Given the description of an element on the screen output the (x, y) to click on. 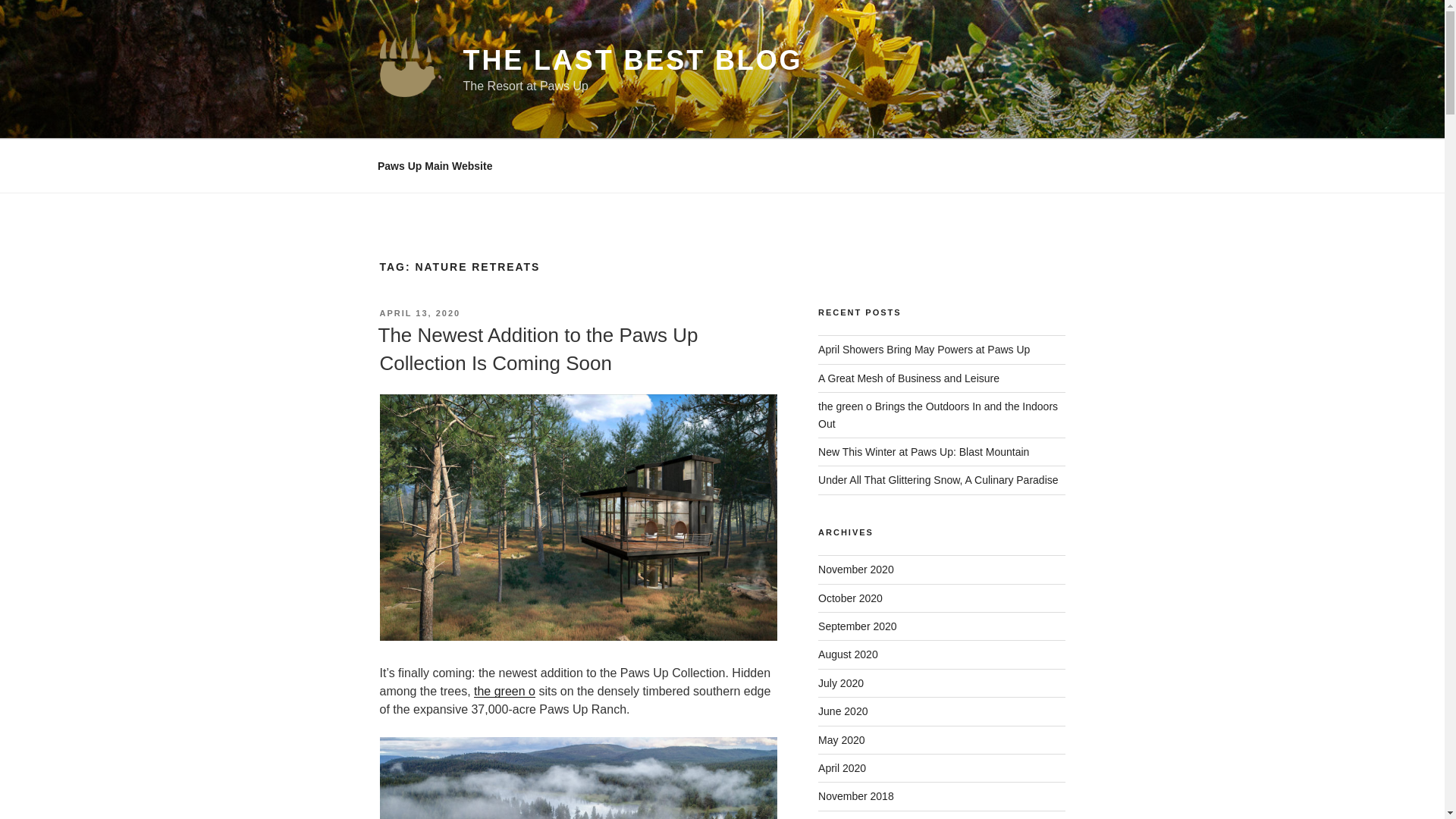
Under All That Glittering Snow, A Culinary Paradise (938, 480)
Paws Up Main Website (434, 165)
November 2018 (855, 796)
THE LAST BEST BLOG (633, 60)
November 2020 (855, 569)
The Newest Addition to the Paws Up Collection Is Coming Soon (537, 348)
New This Winter at Paws Up: Blast Mountain (923, 451)
September 2020 (857, 625)
October 2020 (850, 598)
July 2020 (840, 683)
May 2020 (841, 739)
April 2020 (842, 767)
the green o Brings the Outdoors In and the Indoors Out (938, 414)
A Great Mesh of Business and Leisure (908, 378)
APRIL 13, 2020 (419, 312)
